Given the description of an element on the screen output the (x, y) to click on. 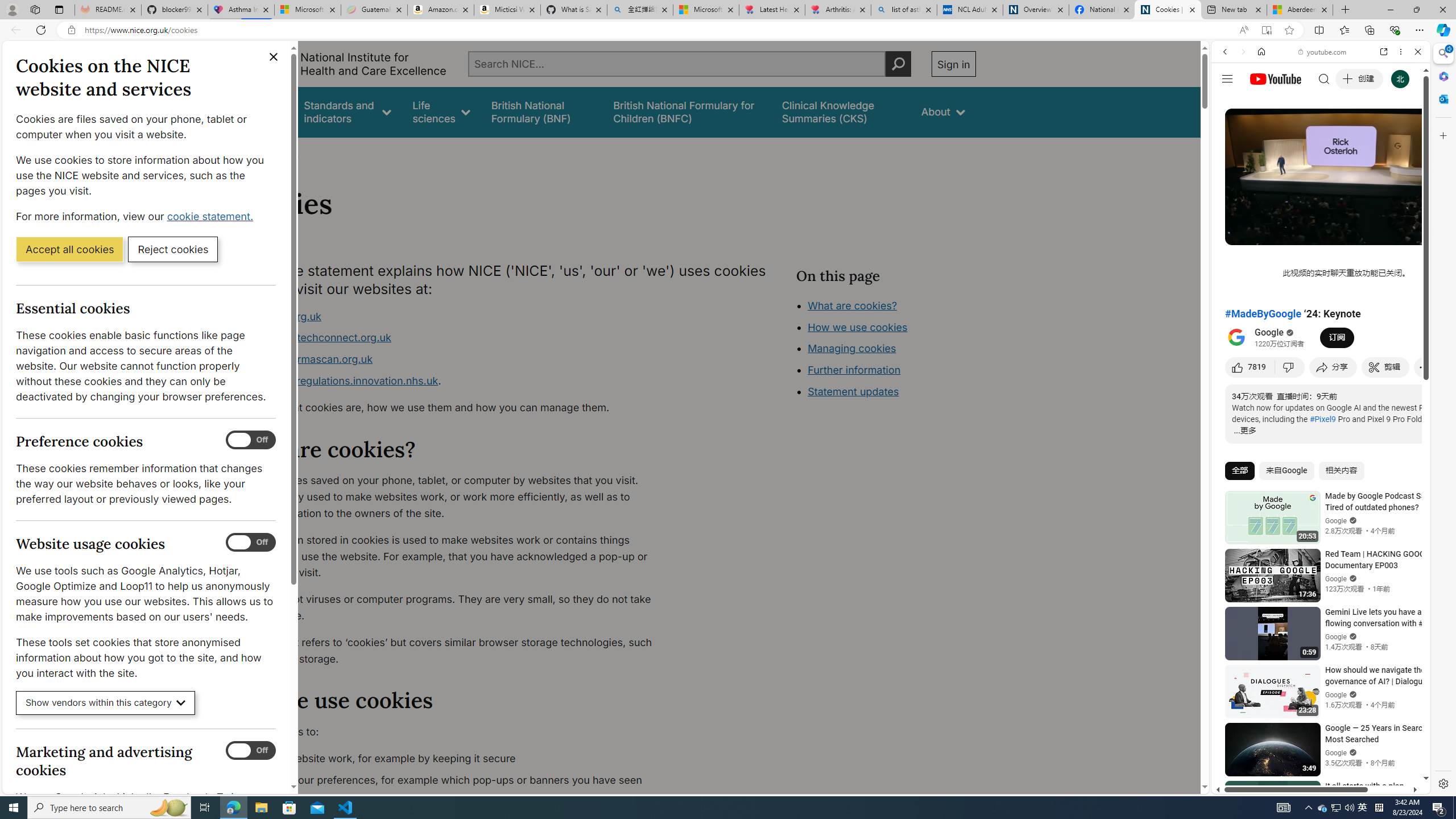
How we use cookies (857, 327)
#MadeByGoogle (1262, 313)
youtube.com (1322, 51)
#you (1320, 253)
